Given the description of an element on the screen output the (x, y) to click on. 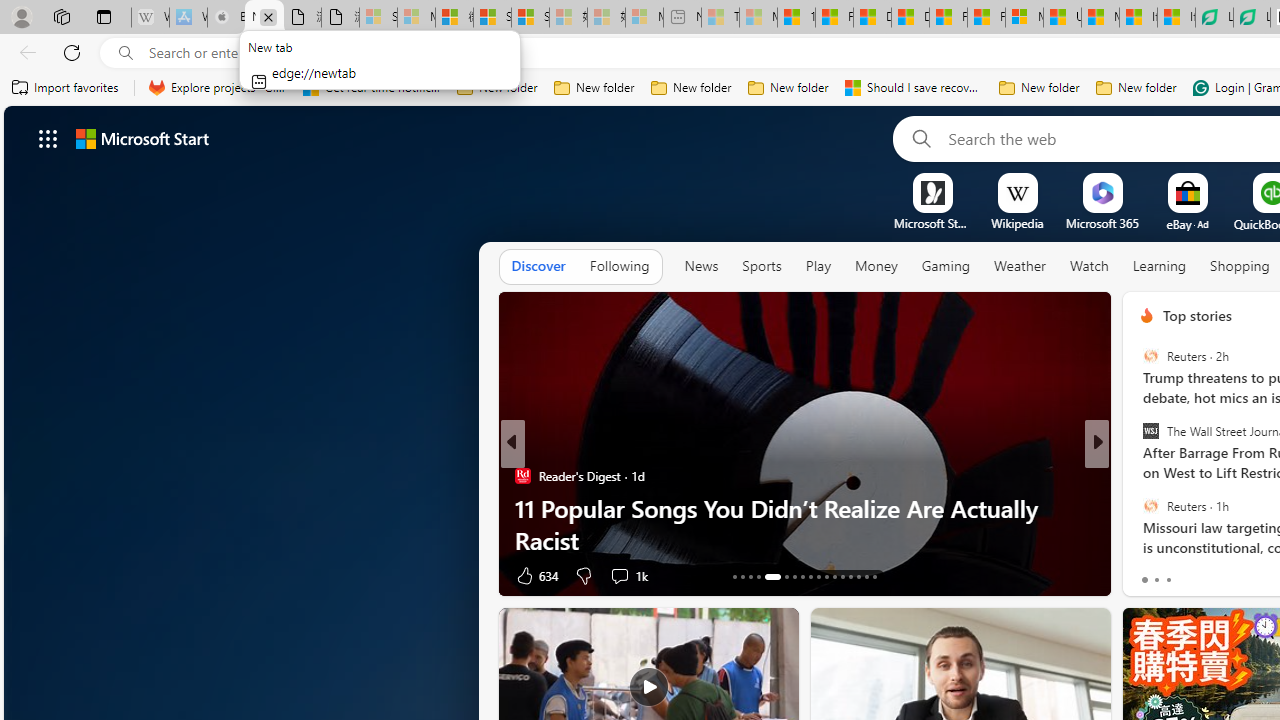
Top Stories - MSN - Sleeping (719, 17)
Ash & Pri (1138, 475)
View comments 44 Comment (1244, 574)
232 Like (1151, 574)
AutomationID: tab-22 (818, 576)
Drinking tea every day is proven to delay biological aging (910, 17)
Reader's Digest (522, 475)
